Given the description of an element on the screen output the (x, y) to click on. 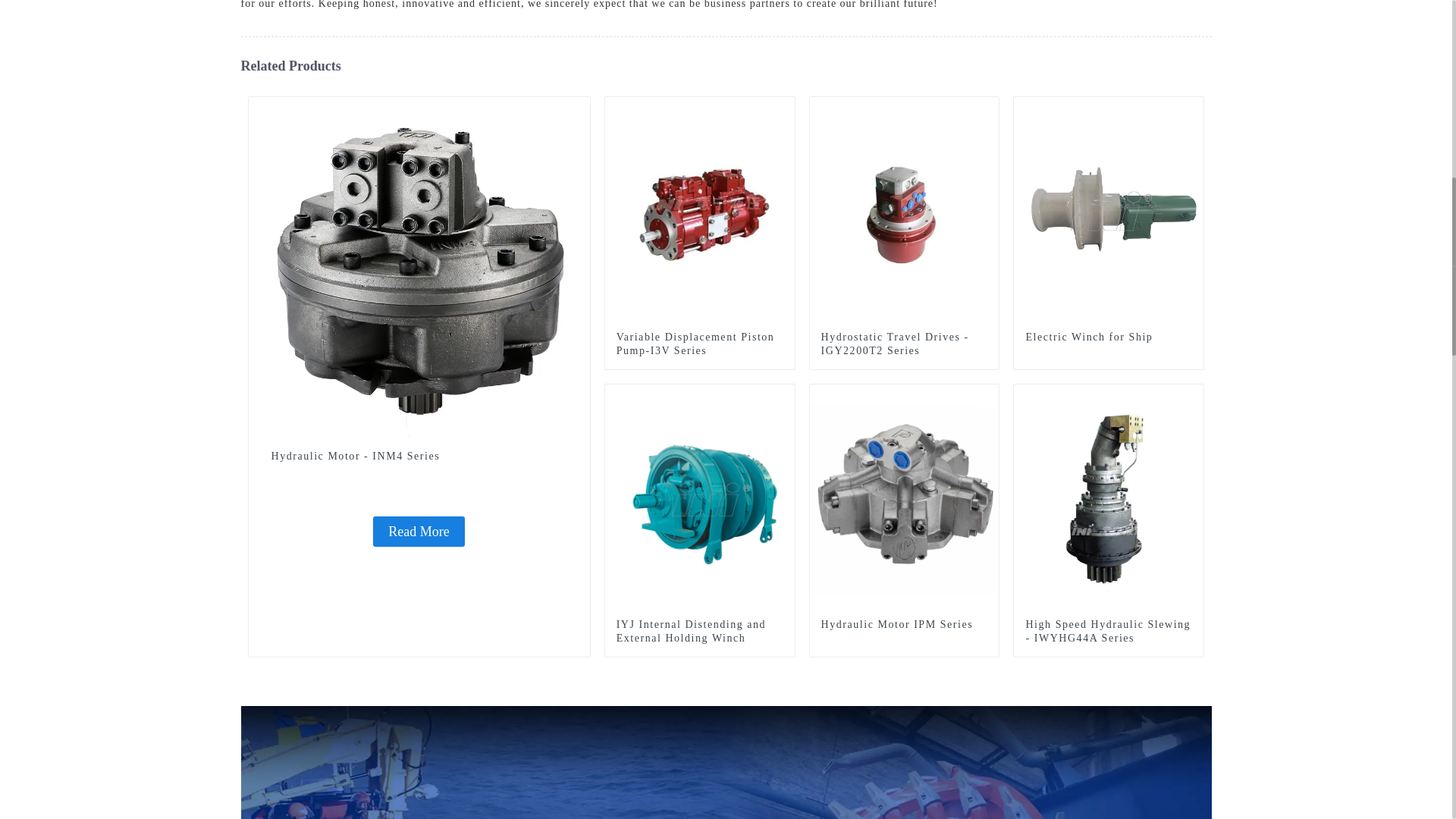
Electric Winch for Ship (1108, 210)
Variable Displacement Piston Pump-I3V Series  (699, 343)
Electric Winch for Ship (1108, 336)
travel gear IGY2200T2 (986, 108)
IYJ Internal Distending and External Holding Winch  (699, 497)
Electric winch for ship2 (1192, 108)
Hydraulic Motor - INM4 Series (418, 531)
Hydrostatic Travel Drives - IGY2200T2 Series (903, 210)
Hydrostatic Travel Drives - IGY2200T2 Series (904, 343)
